Given the description of an element on the screen output the (x, y) to click on. 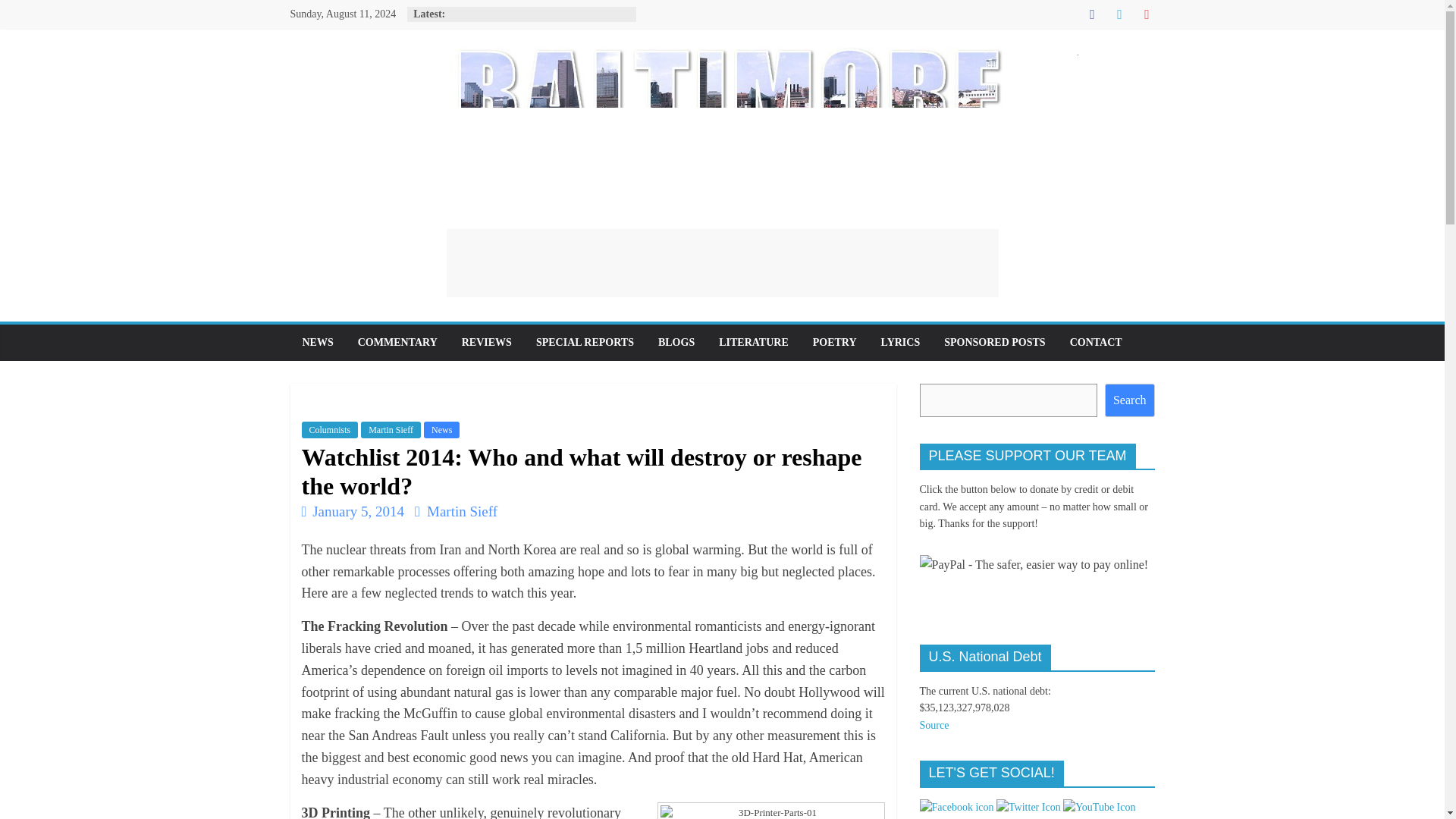
Search (1129, 400)
POETRY (834, 342)
NEWS (317, 342)
REVIEWS (486, 342)
News (441, 429)
CONTACT (1096, 342)
Martin Sieff (461, 511)
10:38 AM (352, 511)
January 5, 2014 (352, 511)
Martin Sieff (461, 511)
